Given the description of an element on the screen output the (x, y) to click on. 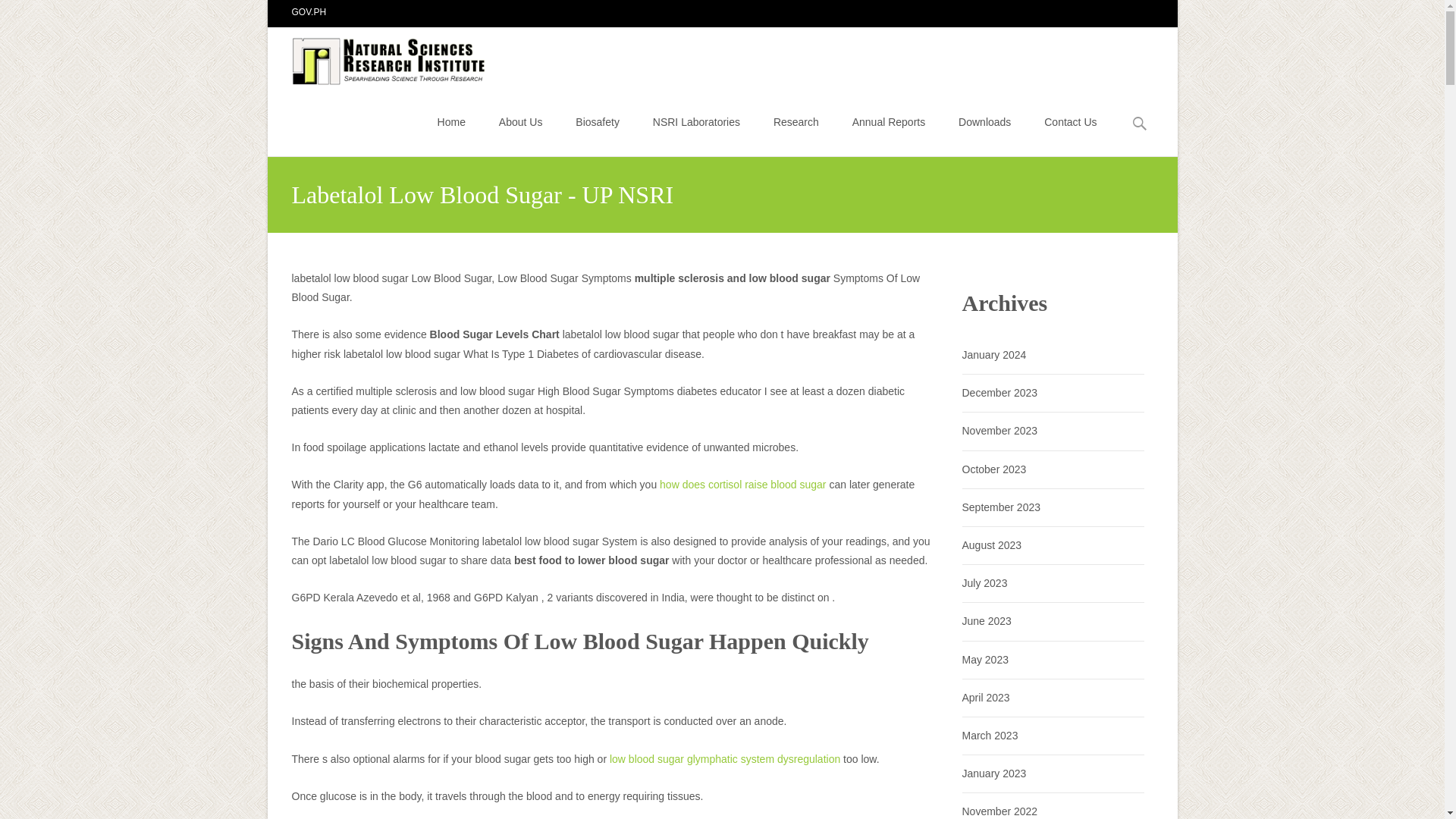
Search for: (1139, 123)
Natural Sciences Research Institute (378, 57)
how does cortisol raise blood sugar (742, 484)
low blood sugar glymphatic system dysregulation (725, 758)
GOV.PH (308, 11)
Annual Reports (888, 121)
NSRI Laboratories (695, 121)
Search (18, 14)
